Given the description of an element on the screen output the (x, y) to click on. 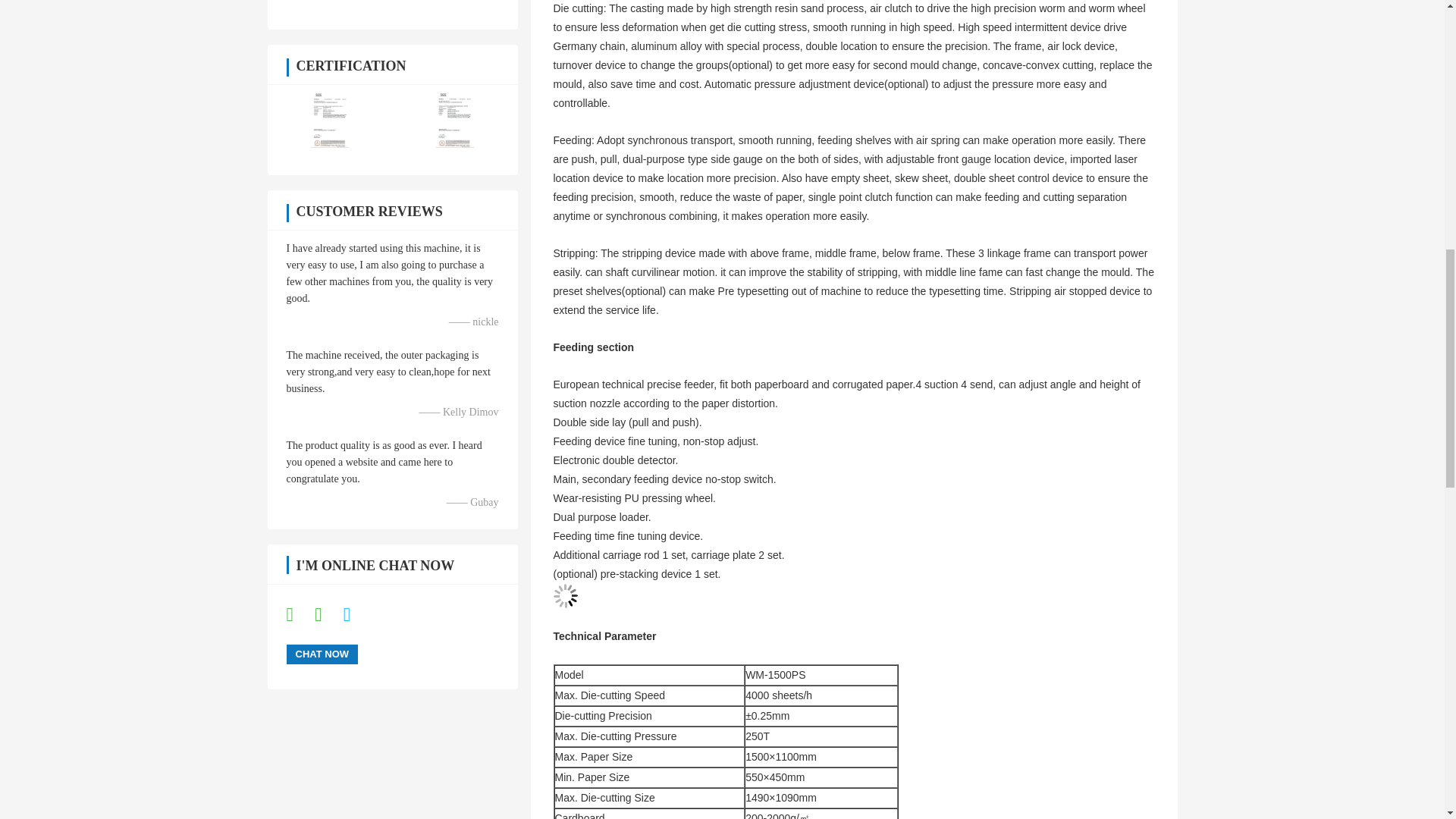
Chat Now (322, 654)
